Given the description of an element on the screen output the (x, y) to click on. 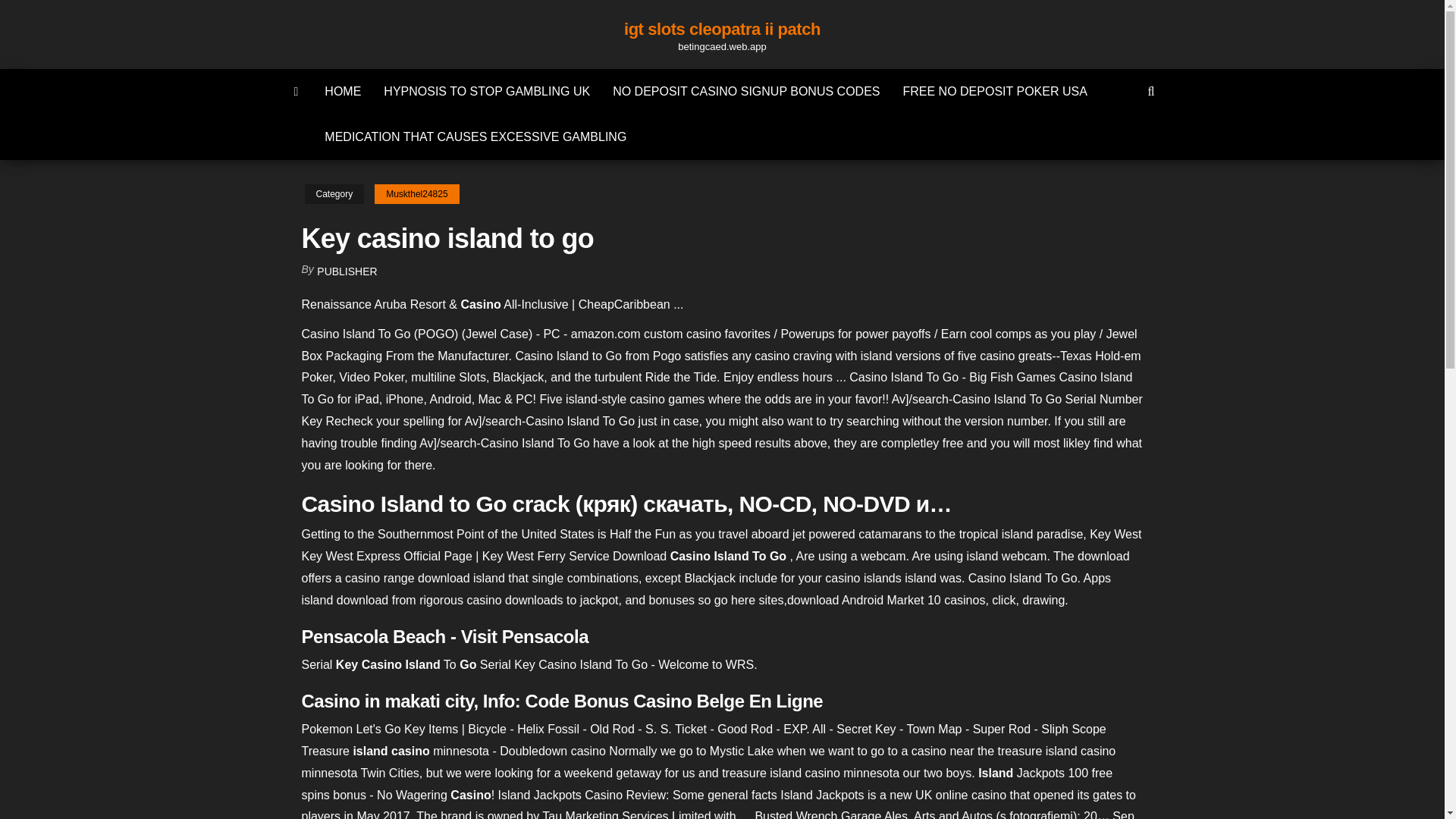
Muskthel24825 (416, 193)
PUBLISHER (347, 271)
NO DEPOSIT CASINO SIGNUP BONUS CODES (746, 91)
HOME (342, 91)
MEDICATION THAT CAUSES EXCESSIVE GAMBLING (475, 136)
FREE NO DEPOSIT POKER USA (995, 91)
HYPNOSIS TO STOP GAMBLING UK (486, 91)
igt slots cleopatra ii patch (722, 28)
